Given the description of an element on the screen output the (x, y) to click on. 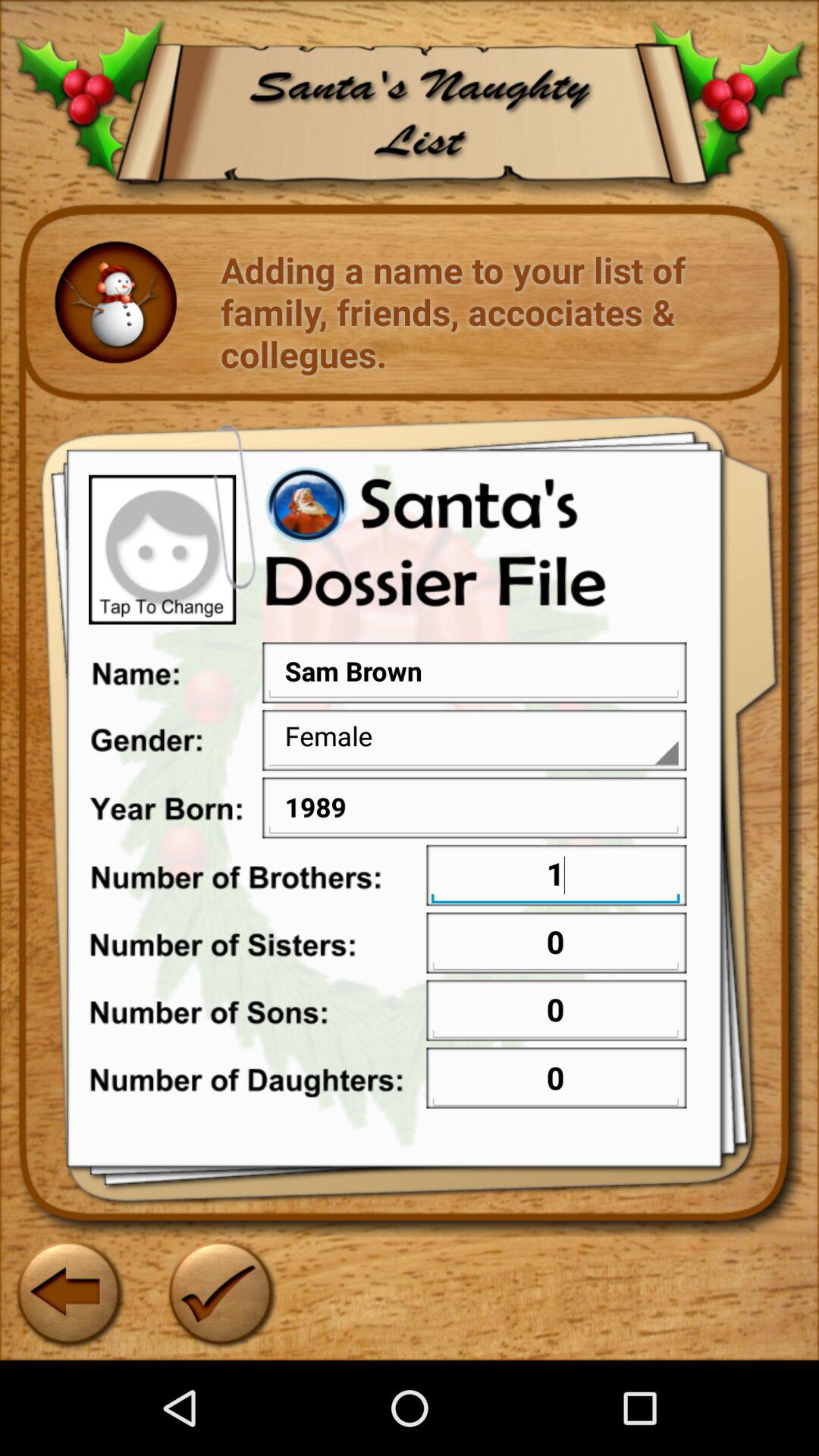
confirm (219, 1291)
